Given the description of an element on the screen output the (x, y) to click on. 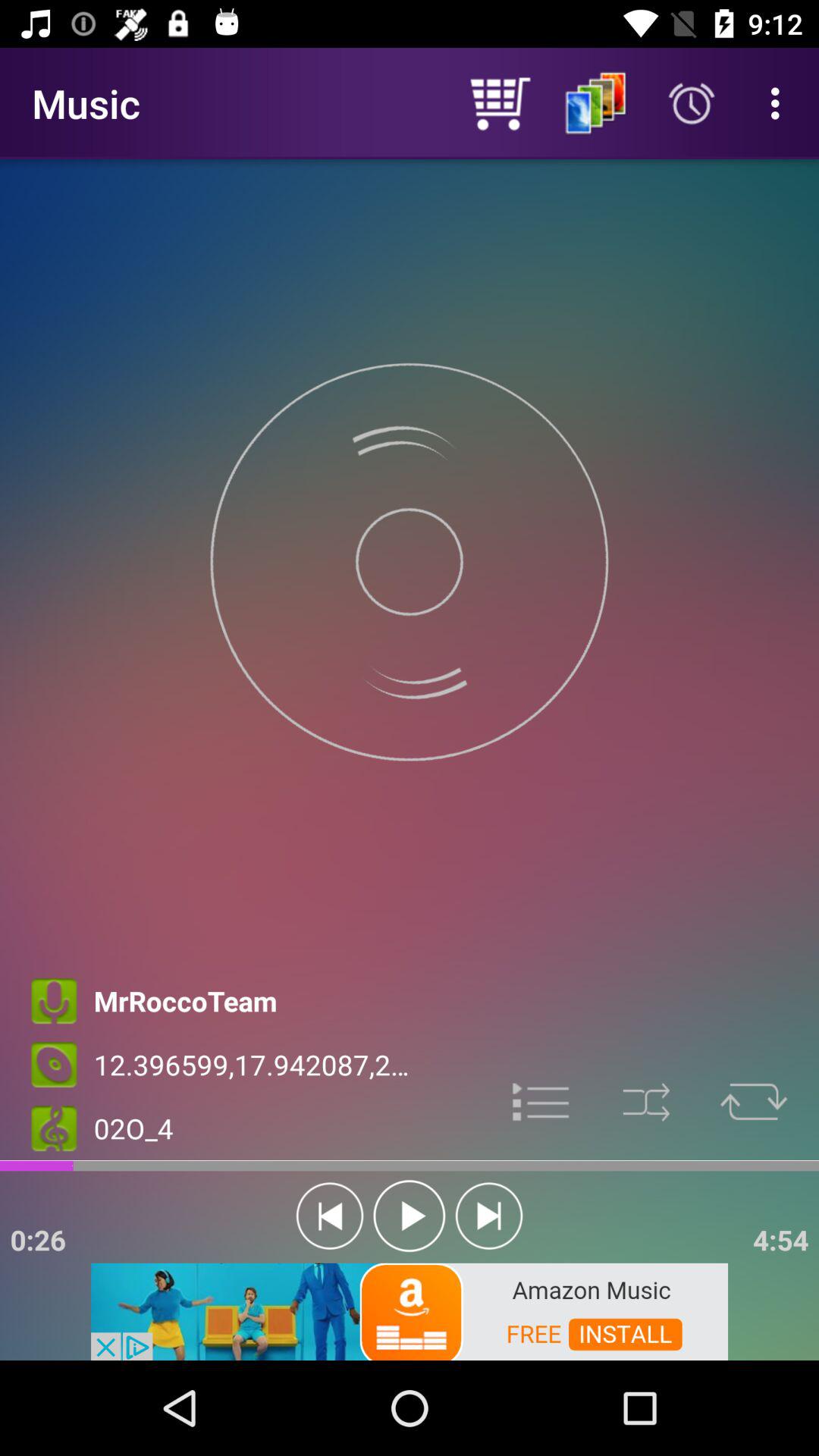
go forward (488, 1215)
